Given the description of an element on the screen output the (x, y) to click on. 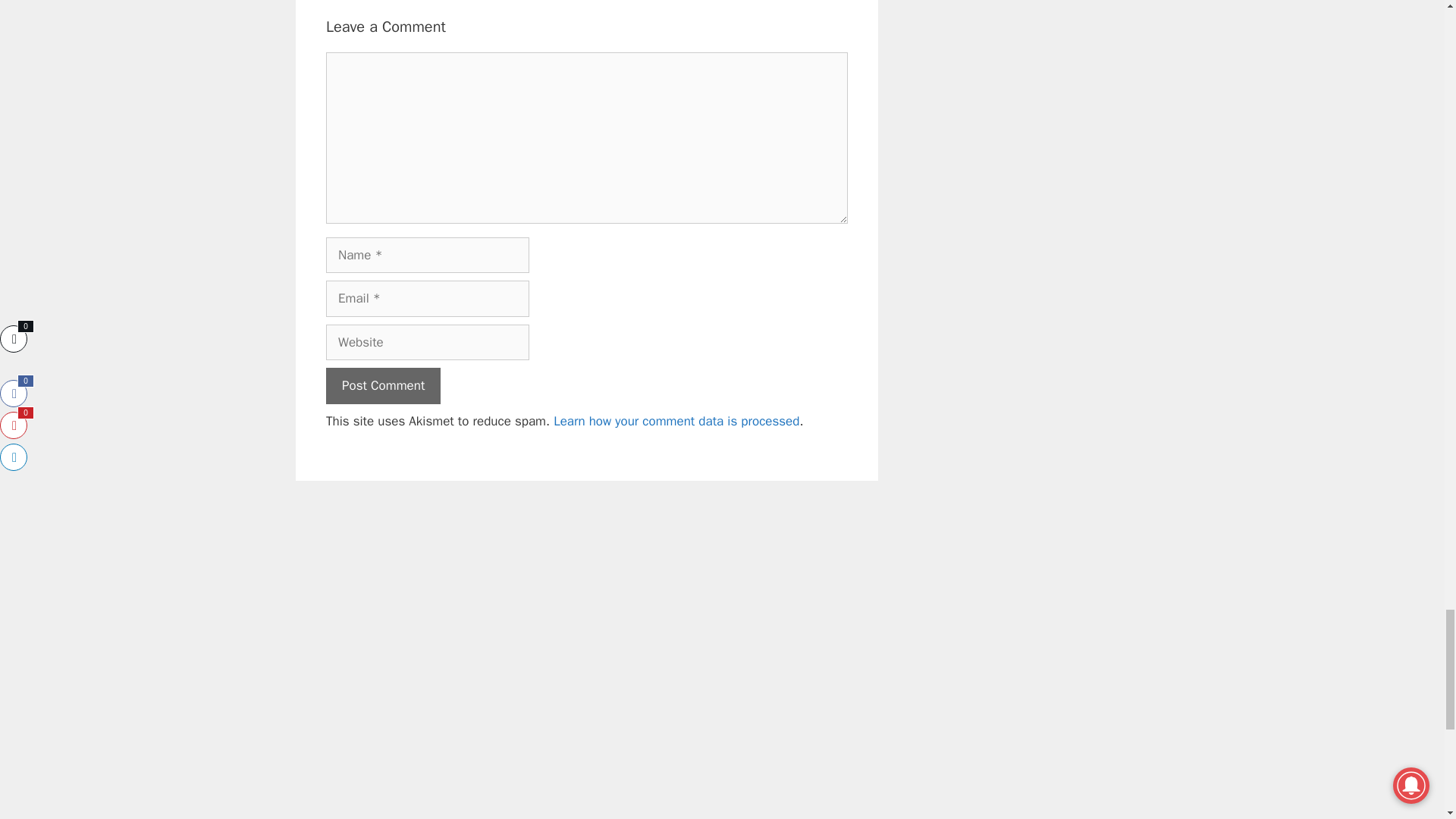
Post Comment (383, 385)
Post Comment (383, 385)
Learn how your comment data is processed (676, 420)
